Given the description of an element on the screen output the (x, y) to click on. 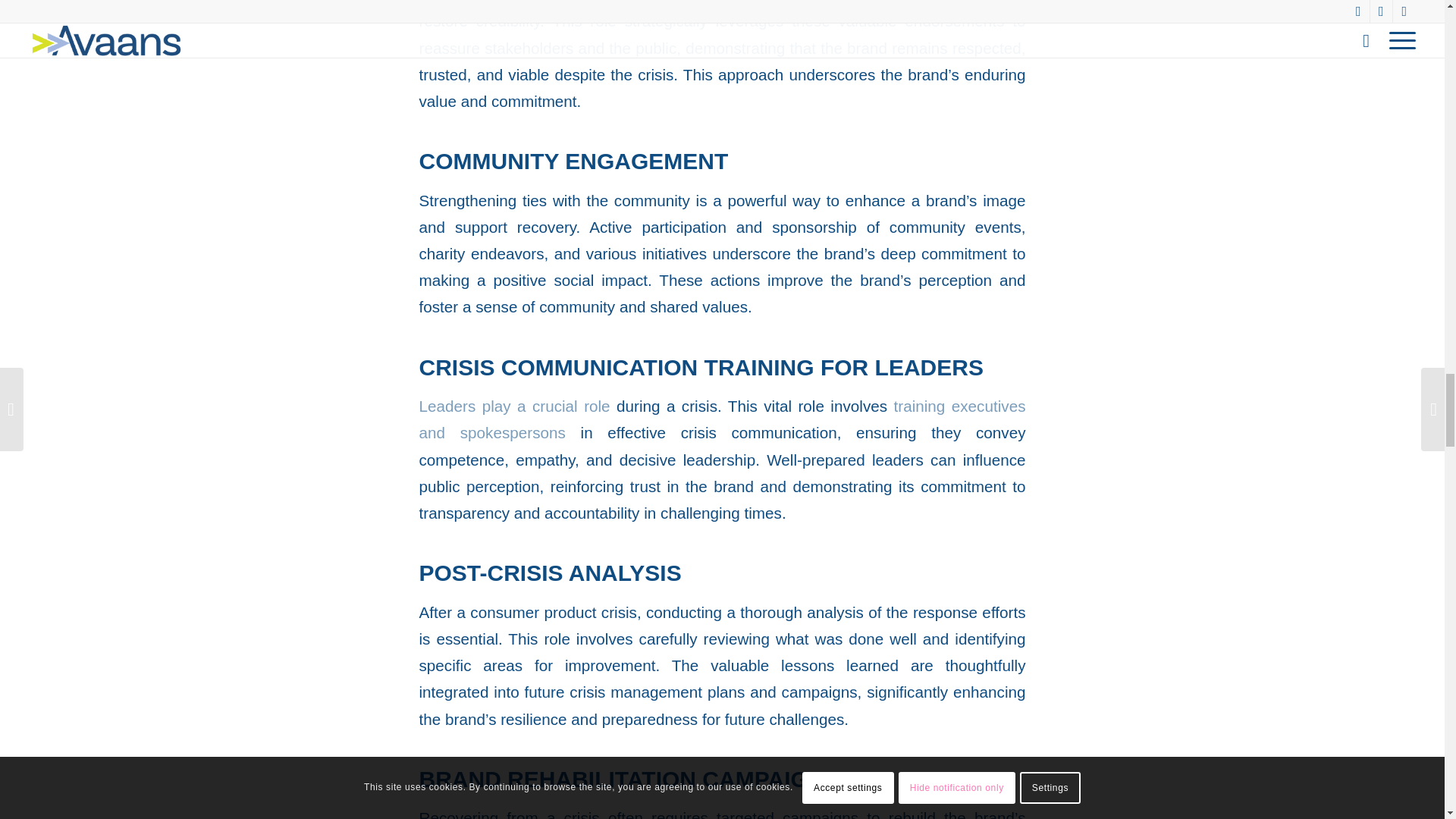
training executives and spokespersons (722, 419)
Leaders play a crucial role (514, 405)
